Given the description of an element on the screen output the (x, y) to click on. 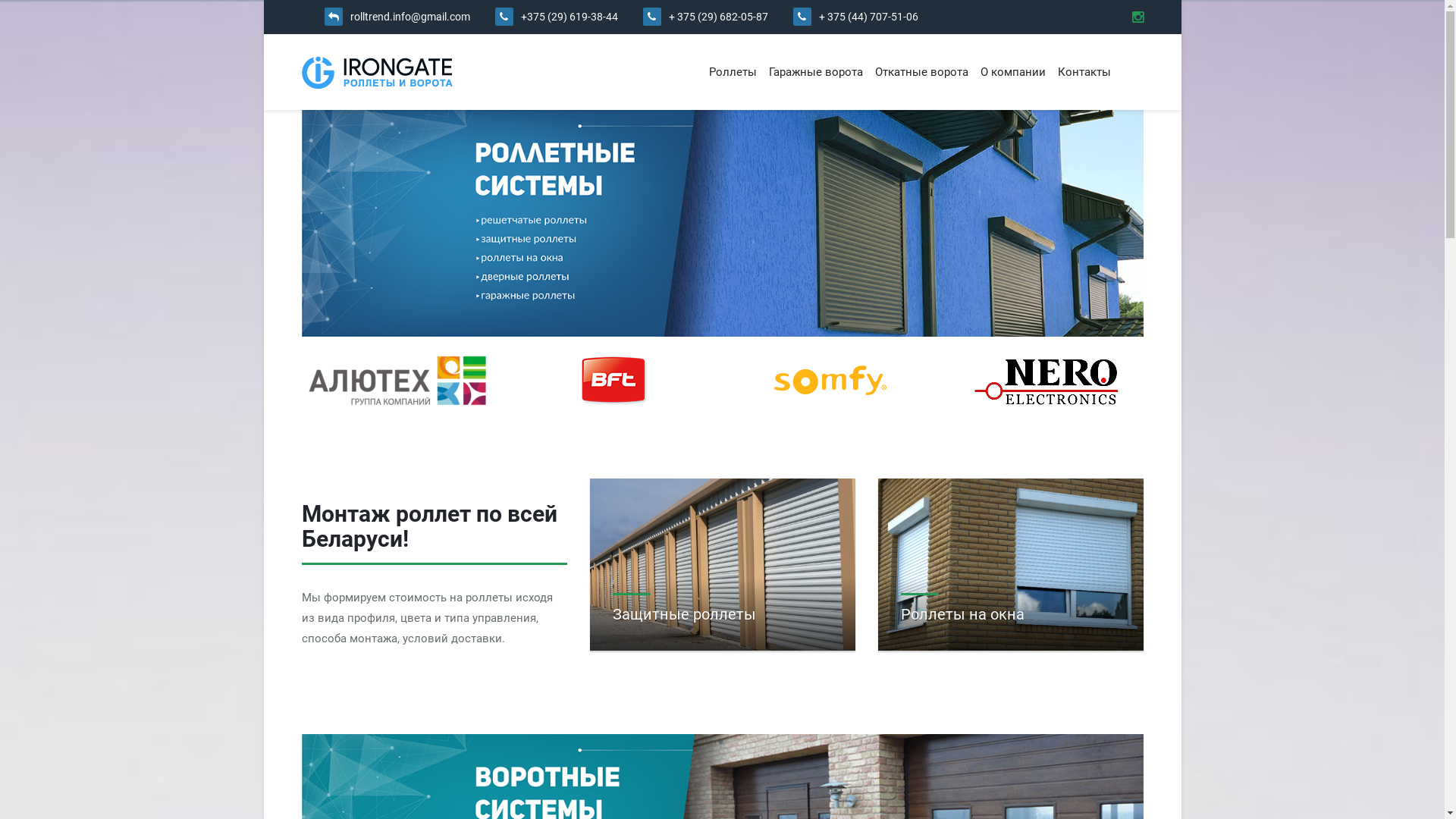
Somfy_log Element type: hover (830, 379)
CIM_logo-BFT-web-3d-shield-payoff-white-shadow Element type: hover (614, 379)
